Given the description of an element on the screen output the (x, y) to click on. 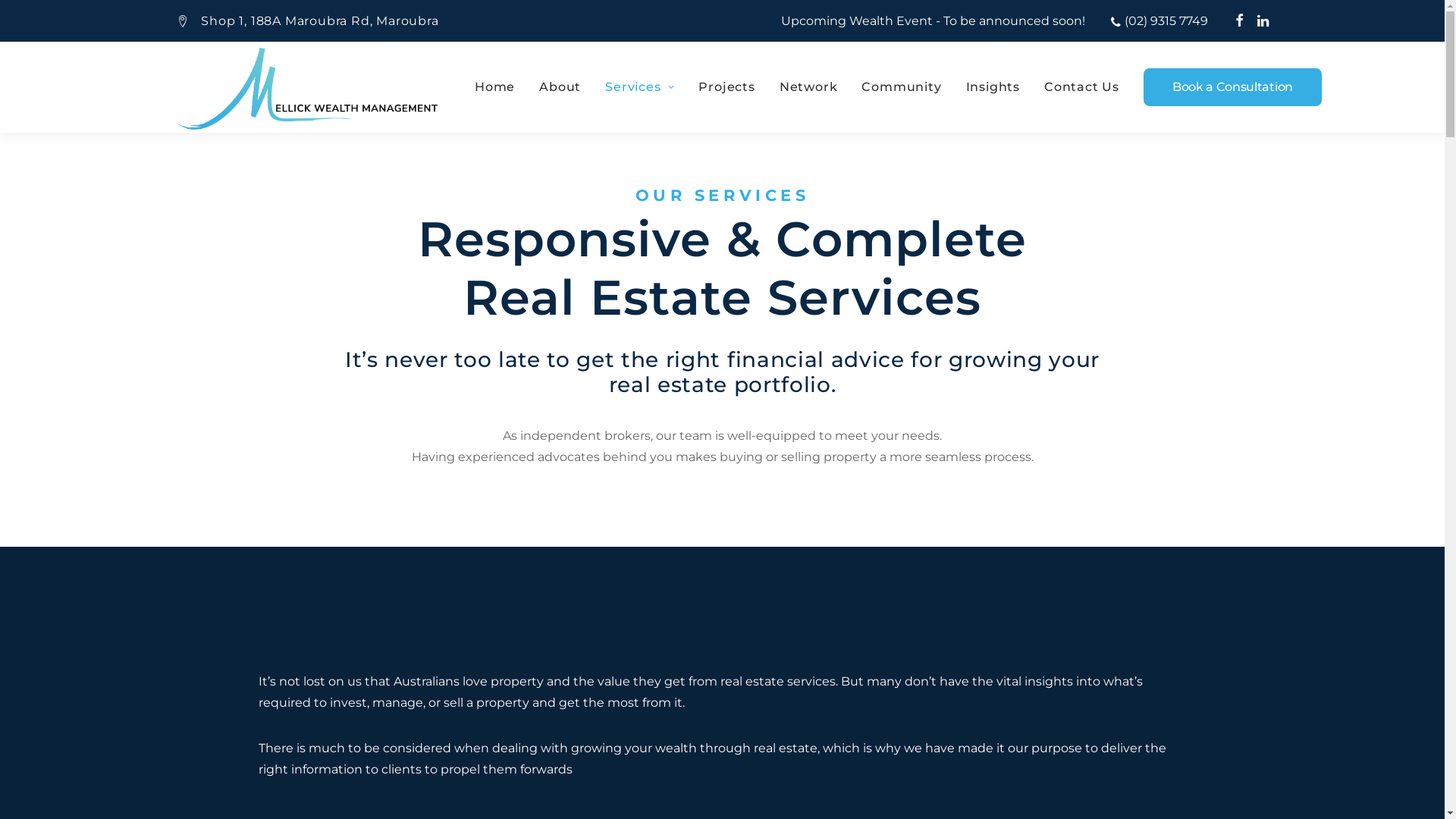
Shop 1, 188A Maroubra Rd, Maroubra Element type: text (307, 20)
Community Element type: text (900, 86)
Upcoming Wealth Event - To be announced soon! Element type: text (933, 20)
Contact Us Element type: text (1081, 86)
Projects Element type: text (726, 86)
About Element type: text (559, 86)
Network Element type: text (808, 86)
Home Element type: text (499, 86)
Insights Element type: text (992, 86)
Book a Consultation Element type: text (1226, 87)
Services Element type: text (639, 86)
(02) 9315 7749 Element type: text (1158, 20)
